Given the description of an element on the screen output the (x, y) to click on. 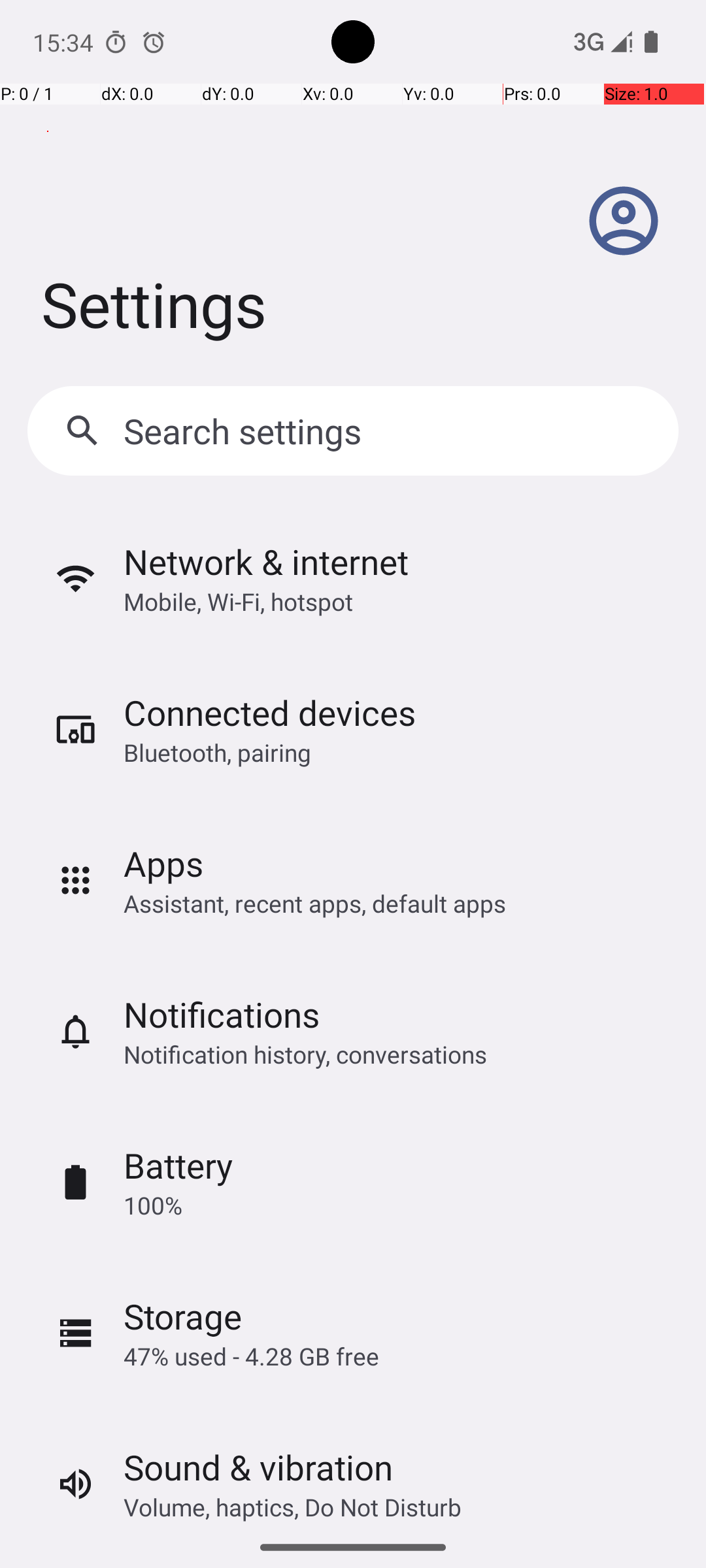
47% used - 4.28 GB free Element type: android.widget.TextView (251, 1355)
